Given the description of an element on the screen output the (x, y) to click on. 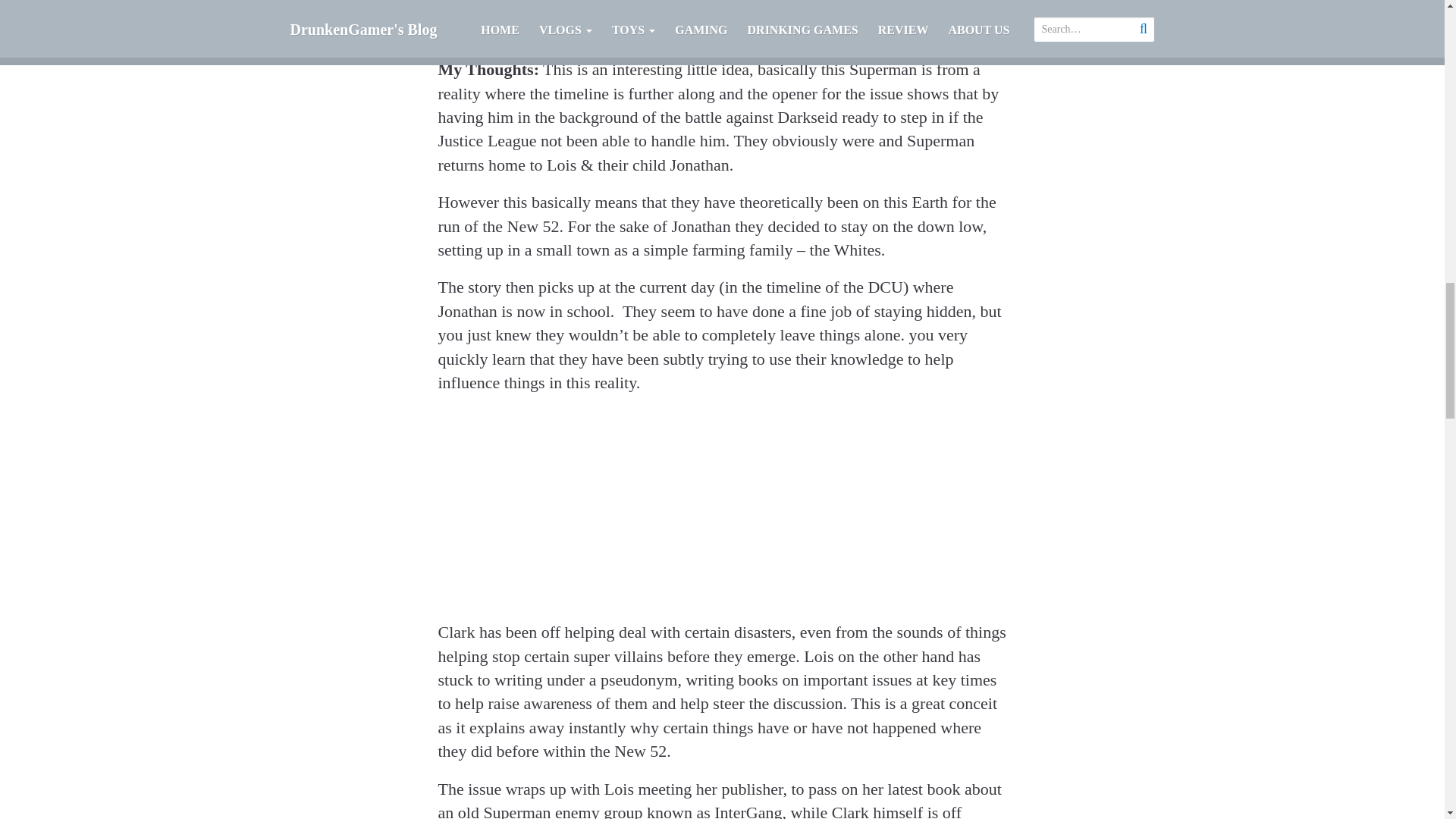
Advertisement (722, 513)
Advertisement (722, 28)
